Given the description of an element on the screen output the (x, y) to click on. 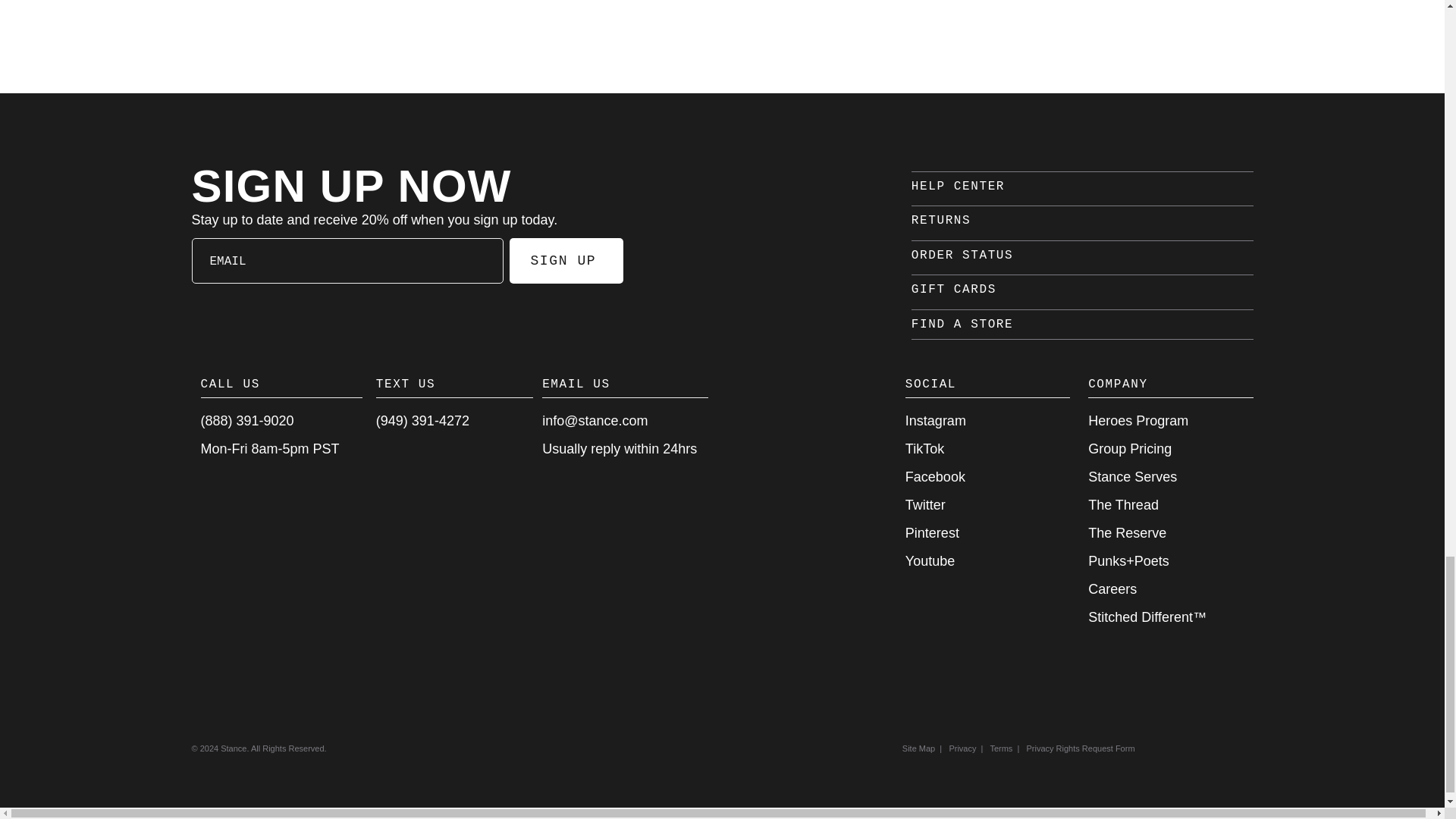
Go to Stance Serves (1131, 476)
Find a Store (962, 324)
Go to Return Policy (941, 220)
Go to Help Center (957, 186)
Go to Heroes Program (1137, 420)
Go to Group Pricing (1129, 448)
Go to Gift Cards (953, 289)
Go to Check Order (962, 255)
